Given the description of an element on the screen output the (x, y) to click on. 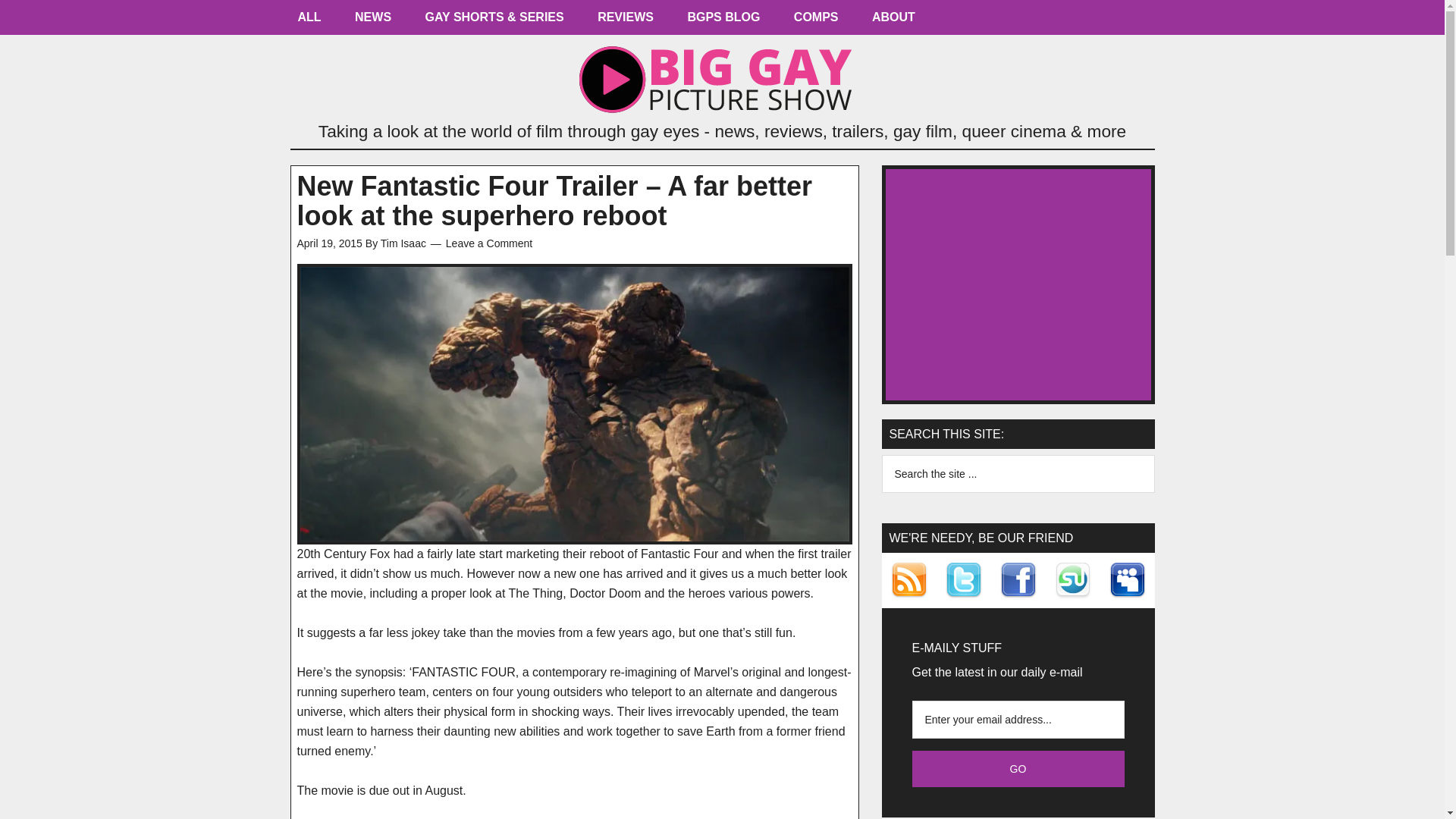
reviews (625, 21)
REVIEWS (625, 21)
ABOUT (893, 21)
Go (1017, 769)
Leave a Comment (488, 243)
news (372, 21)
COMPS (815, 21)
Big Gay Picture Show (721, 79)
bgps-says (722, 21)
